Given the description of an element on the screen output the (x, y) to click on. 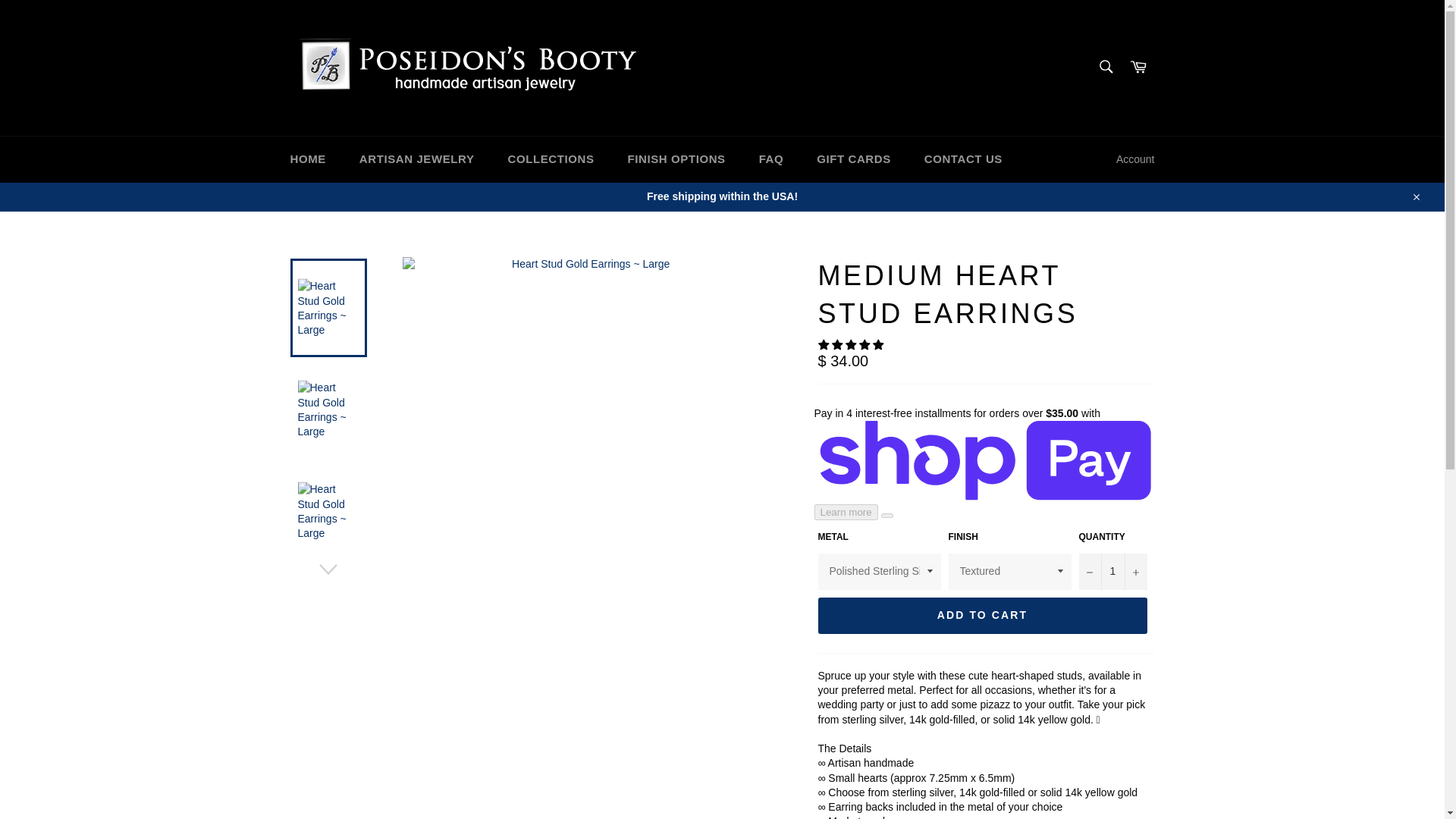
Account (1134, 159)
1 (1112, 571)
FAQ (771, 159)
GIFT CARDS (853, 159)
CONTACT US (962, 159)
Search (1104, 66)
ARTISAN JEWELRY (416, 159)
Cart (1138, 67)
Close (1414, 196)
HOME (307, 159)
